Given the description of an element on the screen output the (x, y) to click on. 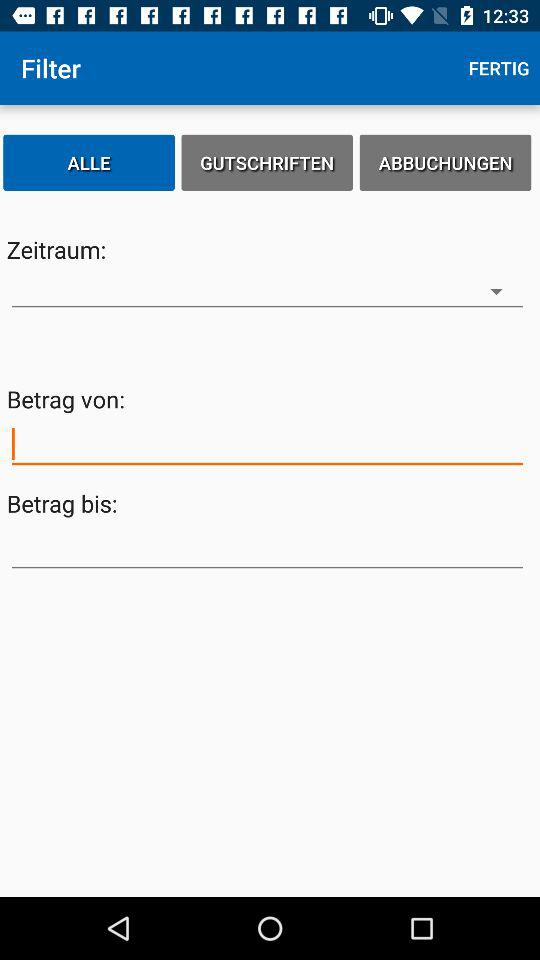
swipe to gutschriften (267, 162)
